Given the description of an element on the screen output the (x, y) to click on. 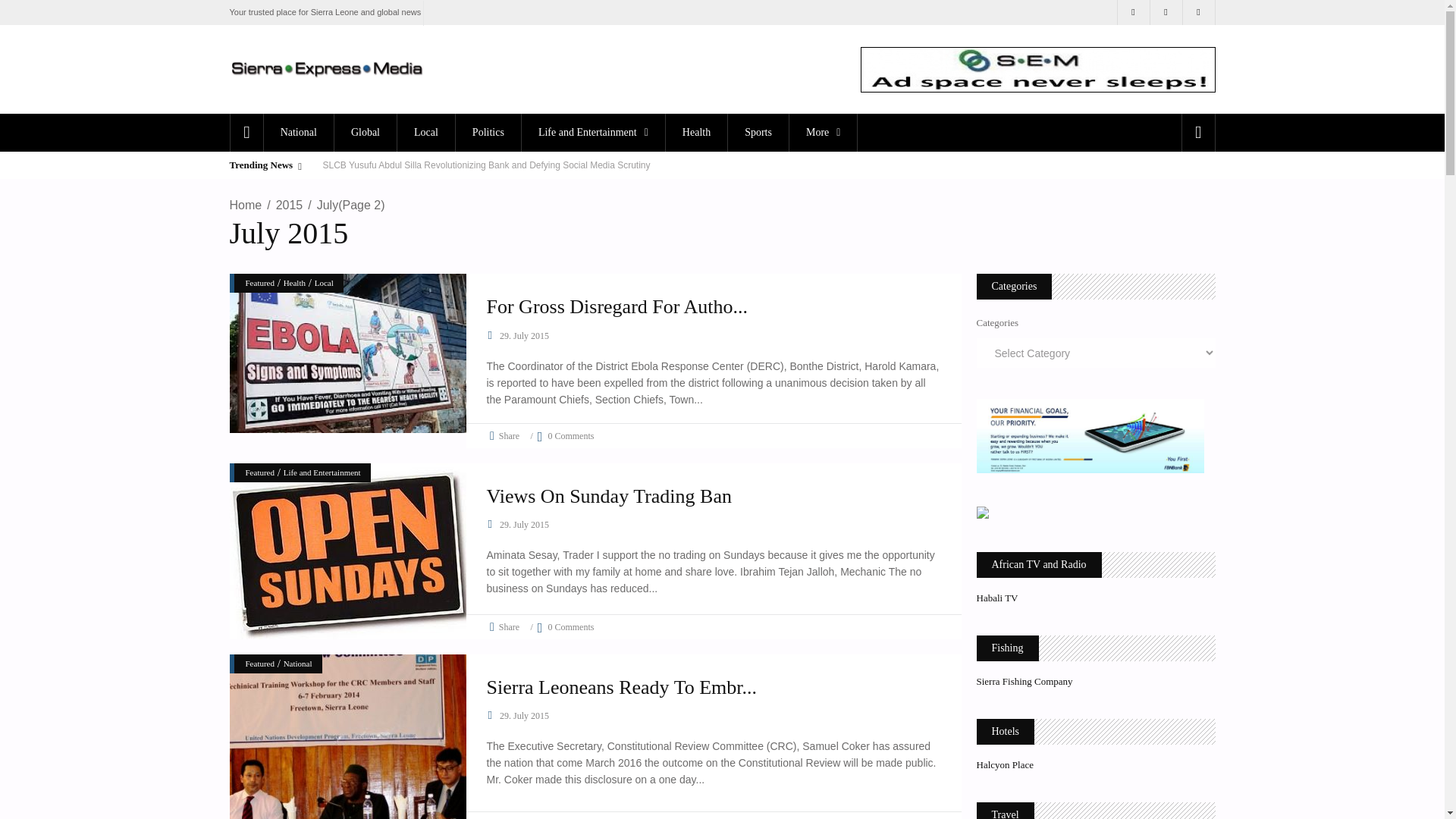
National (298, 132)
Politics (487, 132)
Life and Entertainment (593, 132)
Global (364, 132)
Local (425, 132)
Internet Programming Solutions - A SaloneTech Company (982, 514)
